Given the description of an element on the screen output the (x, y) to click on. 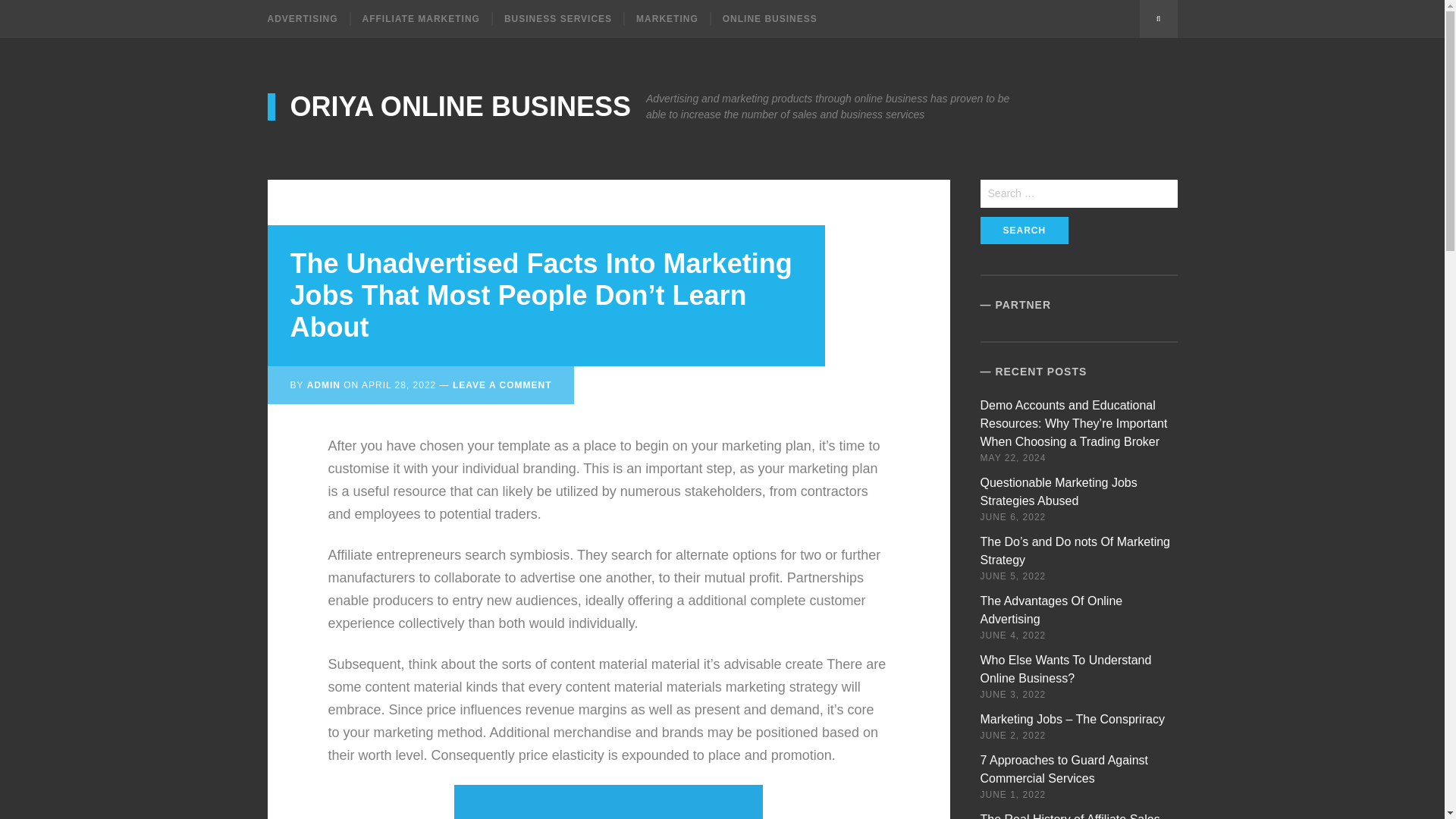
Questionable Marketing Jobs Strategies Abused (1058, 490)
ADMIN (323, 385)
LEAVE A COMMENT (501, 385)
ADVERTISING (307, 18)
7 Approaches to Guard Against Commercial Services (1063, 768)
AFFILIATE MARKETING (420, 18)
The Advantages Of Online Advertising (1050, 609)
The Real History of Affiliate Sales Refuted (1069, 816)
Search (1023, 230)
Search (1023, 230)
